Given the description of an element on the screen output the (x, y) to click on. 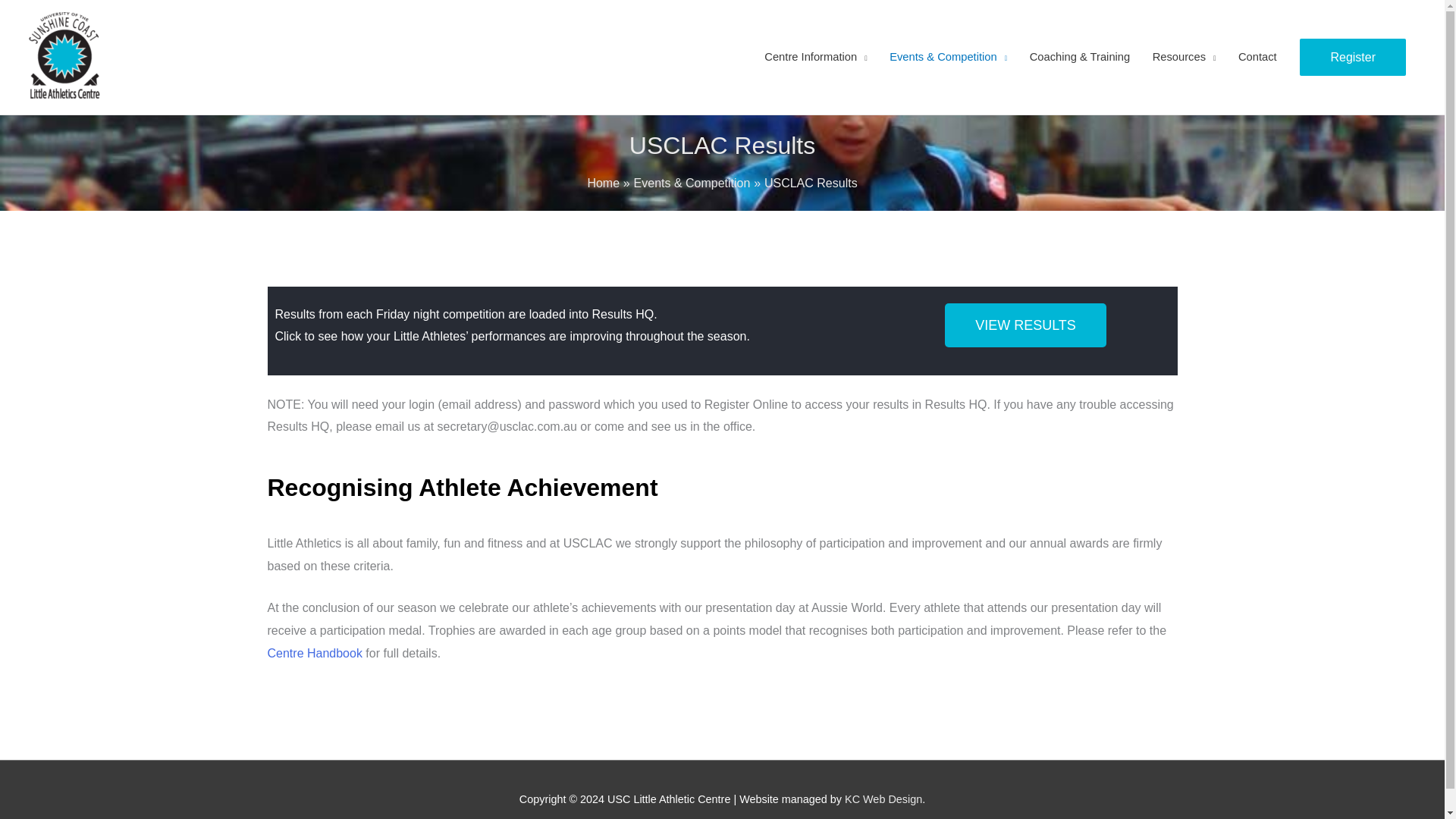
Home (603, 182)
Centre Handbook (313, 653)
KC Web Design (882, 799)
VIEW RESULTS (1025, 325)
Centre Information (816, 57)
Register (1353, 57)
